Given the description of an element on the screen output the (x, y) to click on. 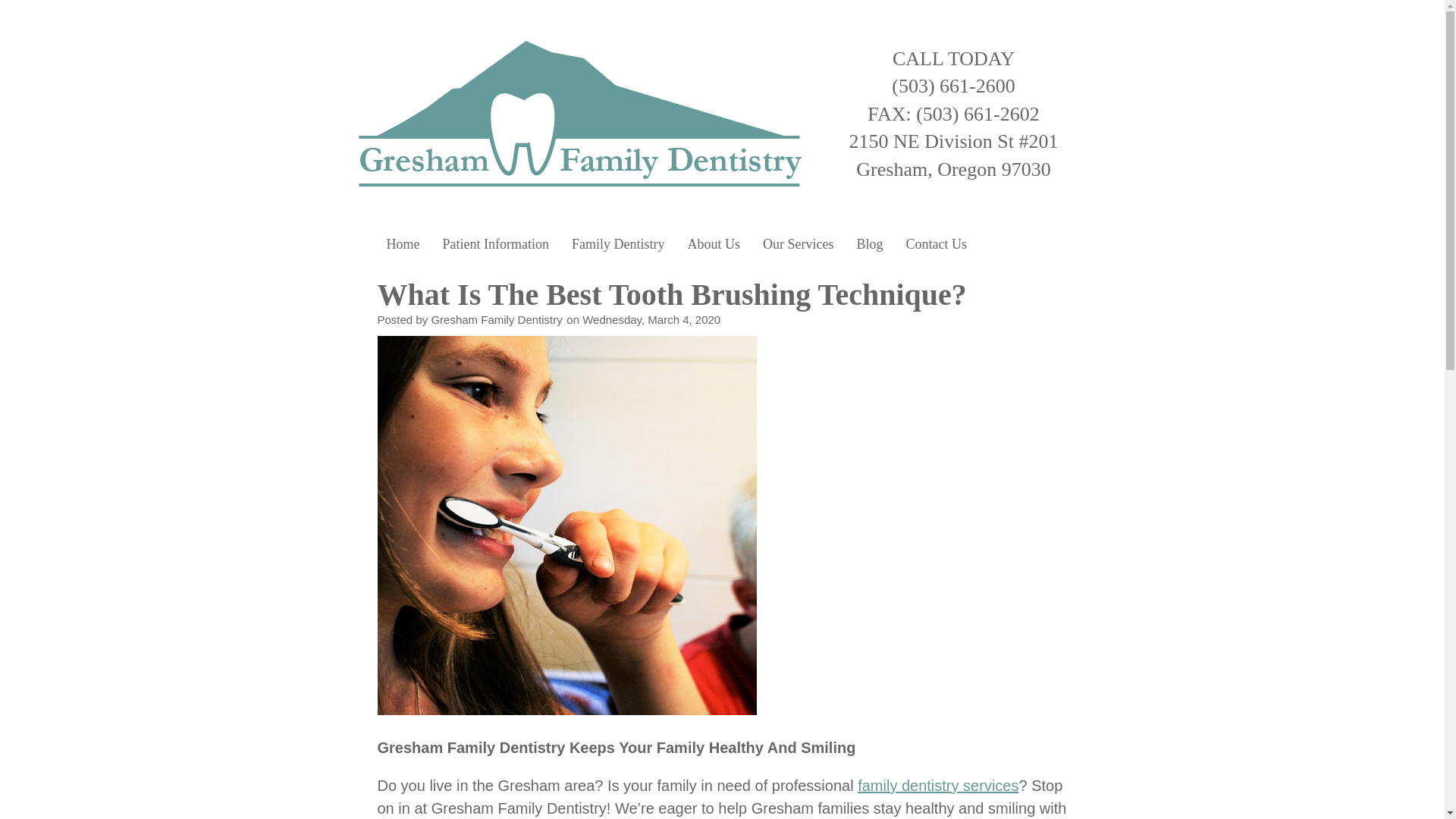
Family Dentistry (618, 244)
Home (402, 244)
Permanent link to What Is The Best Tooth Brushing Technique? (671, 294)
About Us (713, 244)
What Is The Best Tooth Brushing Technique? (671, 294)
Blog (868, 244)
Our Services (797, 244)
services (989, 785)
Contact Us (935, 244)
family dentistry (909, 785)
